Given the description of an element on the screen output the (x, y) to click on. 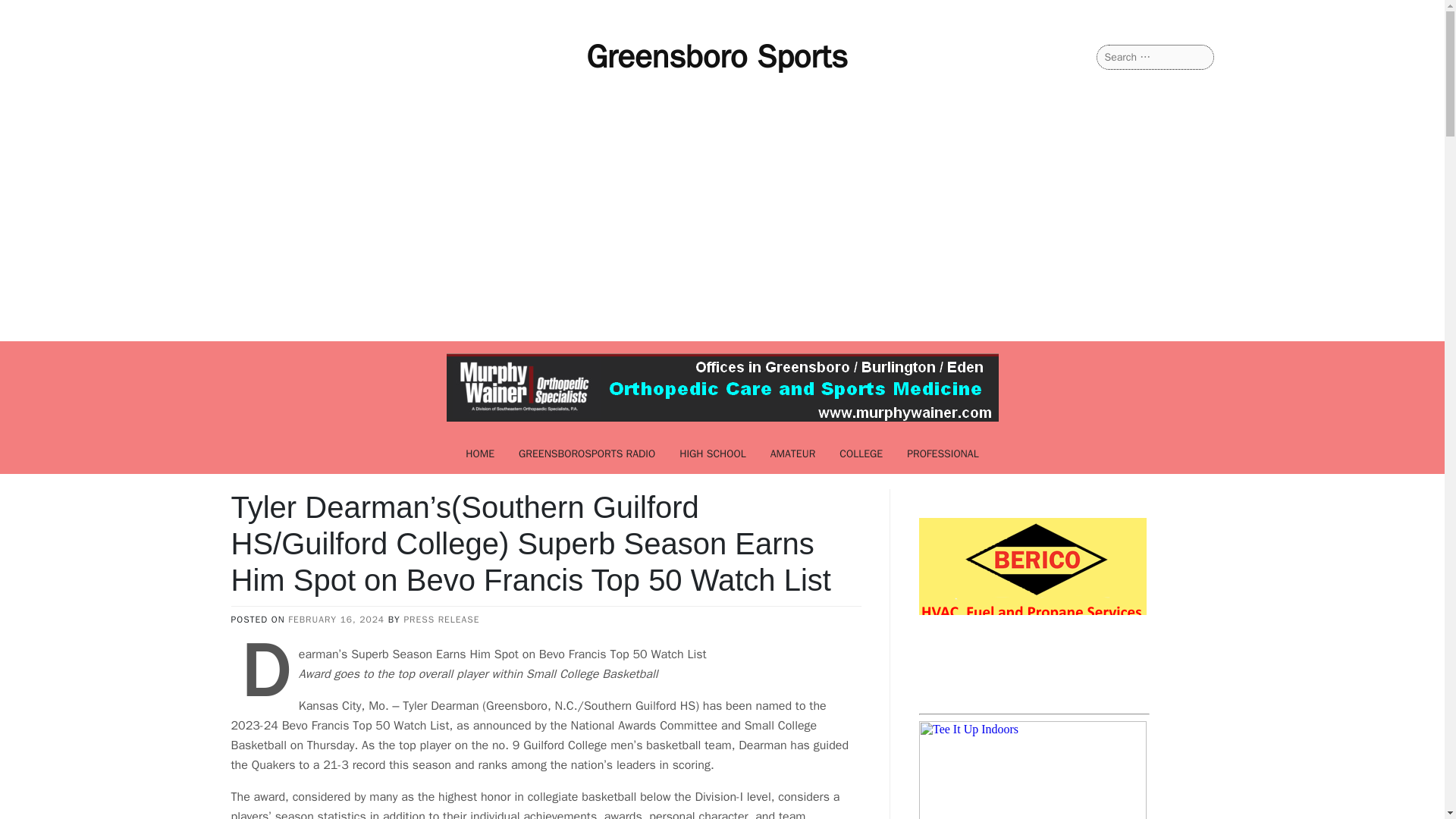
PRESS RELEASE (441, 619)
COLLEGE (861, 454)
AMATEUR (793, 454)
HIGH SCHOOL (712, 454)
GREENSBOROSPORTS RADIO (586, 454)
HOME (479, 454)
Search (31, 12)
PROFESSIONAL (943, 454)
Search (30, 12)
FEBRUARY 16, 2024 (336, 619)
